Given the description of an element on the screen output the (x, y) to click on. 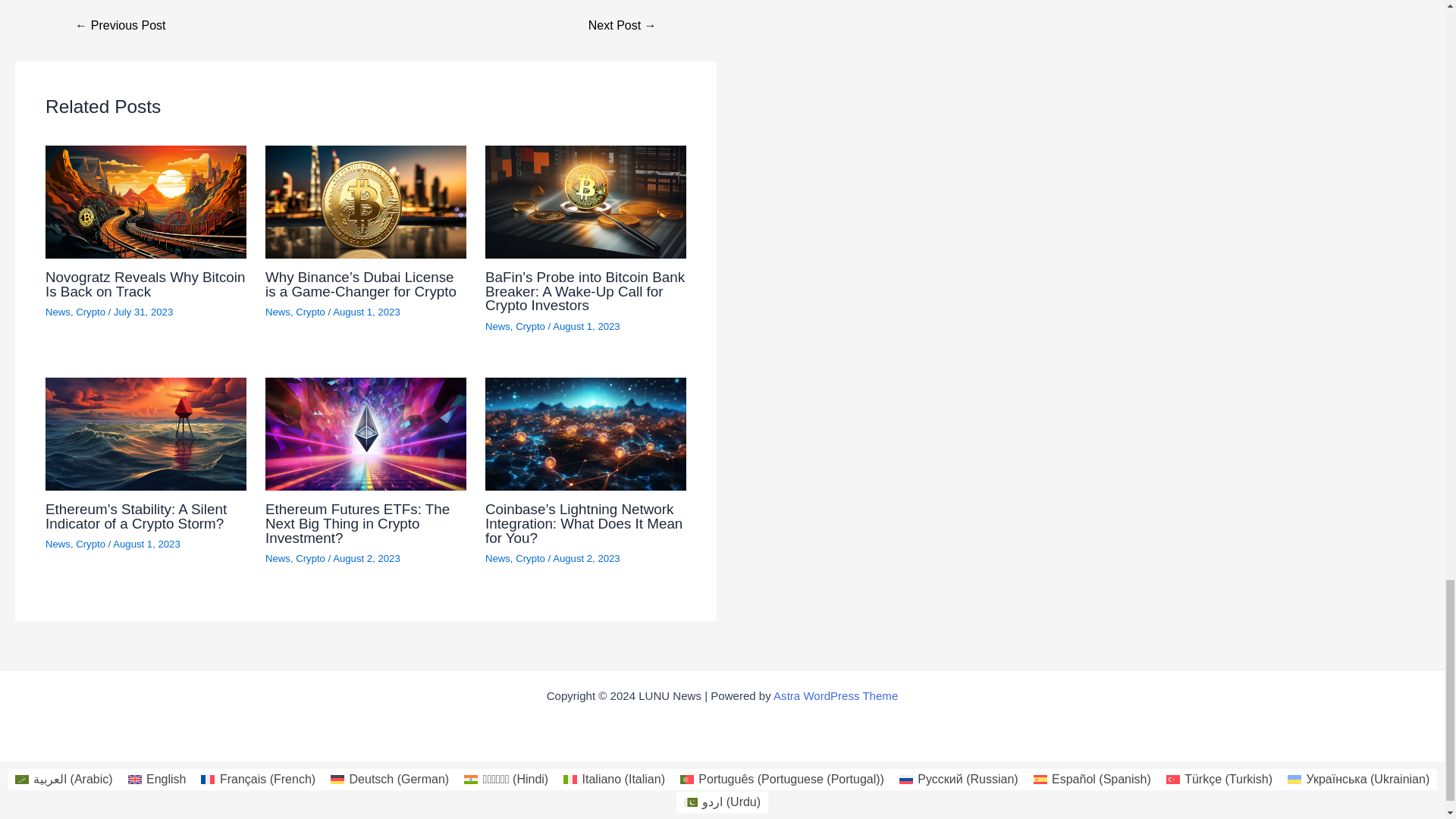
News (57, 543)
Crypto (309, 311)
Crypto (89, 311)
Crypto (529, 326)
Novogratz Reveals Why Bitcoin Is Back on Track (144, 284)
News (497, 326)
News (57, 311)
News (276, 311)
